Given the description of an element on the screen output the (x, y) to click on. 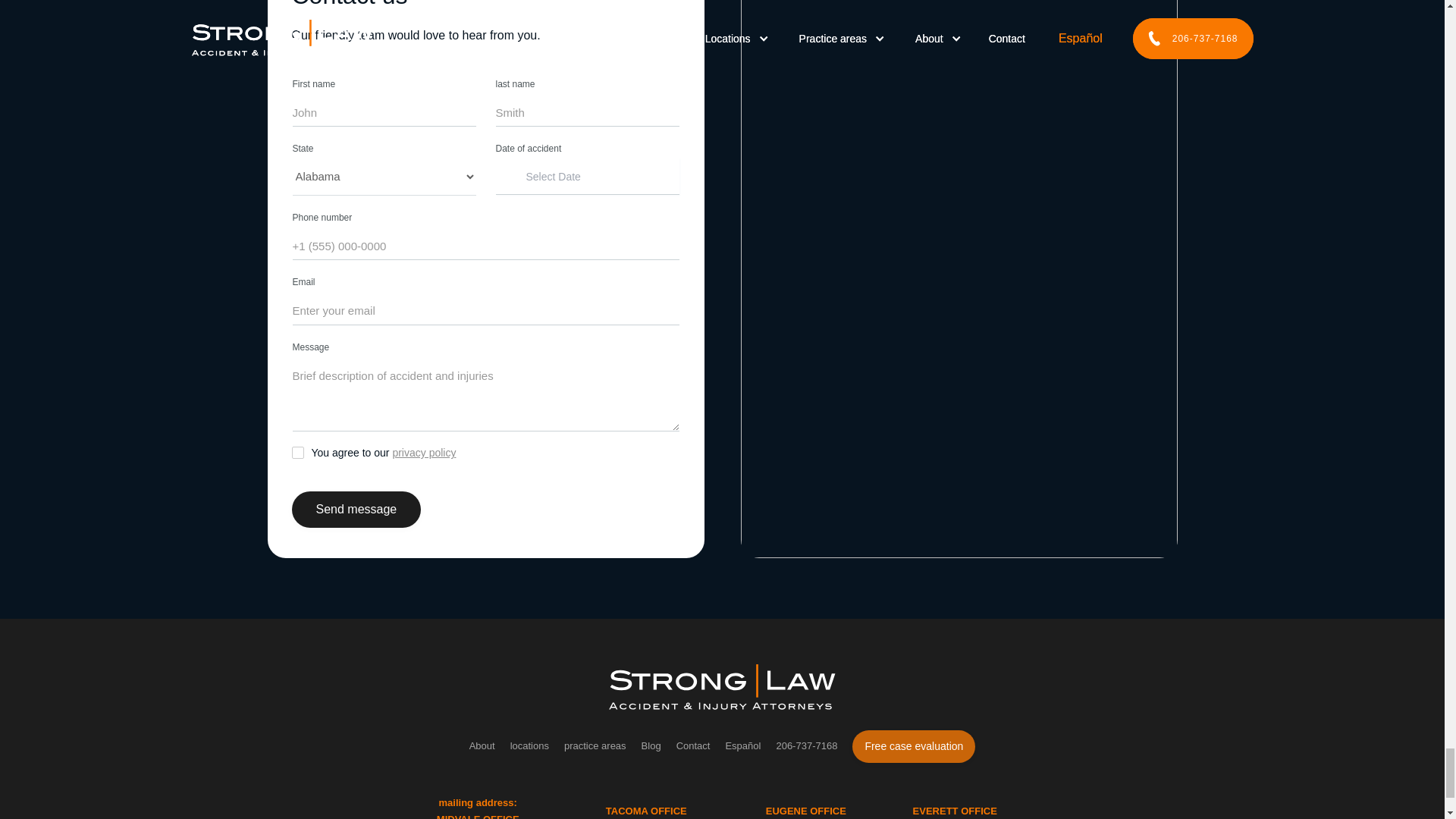
Send message (355, 509)
